Given the description of an element on the screen output the (x, y) to click on. 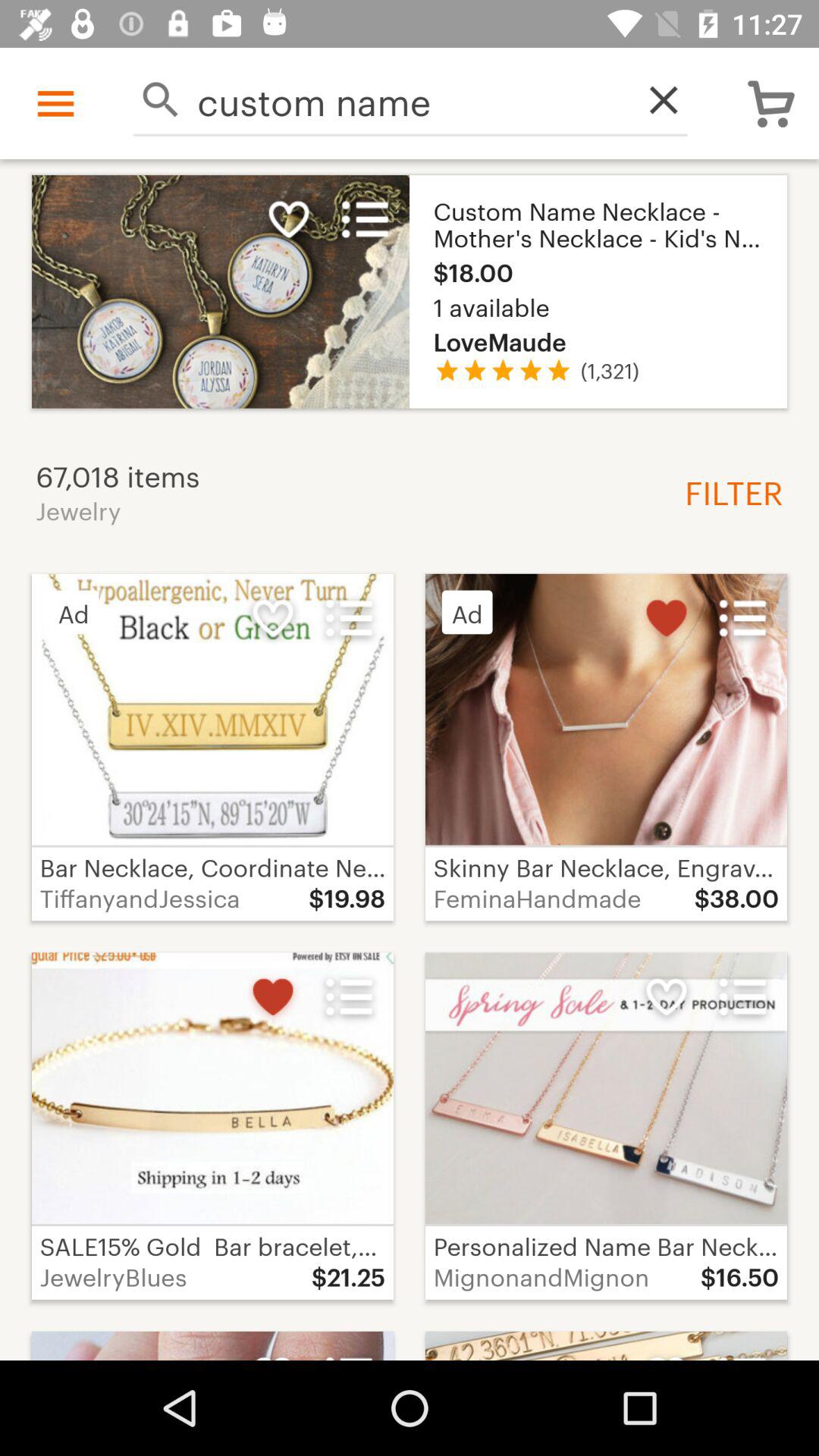
scroll to the filter (727, 491)
